Given the description of an element on the screen output the (x, y) to click on. 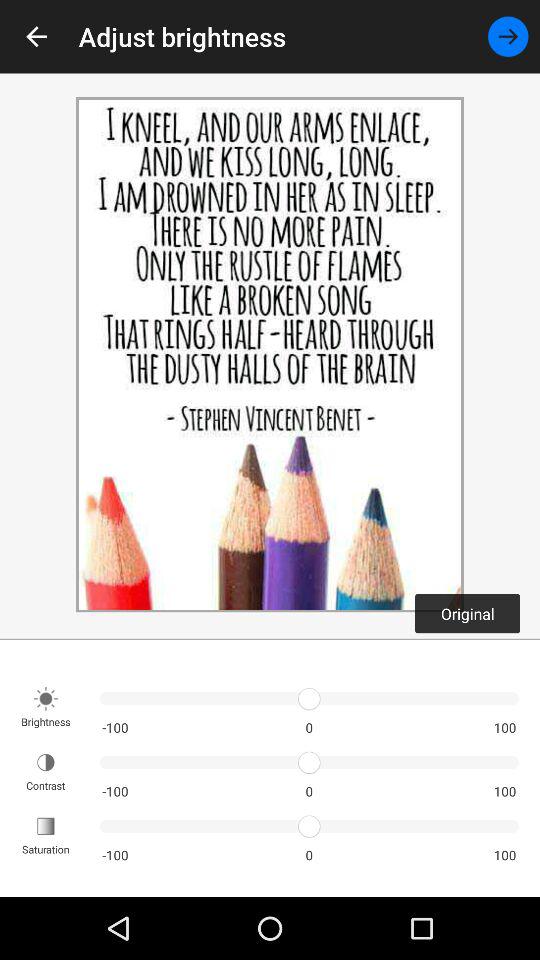
press the icon at the top left corner (36, 36)
